Given the description of an element on the screen output the (x, y) to click on. 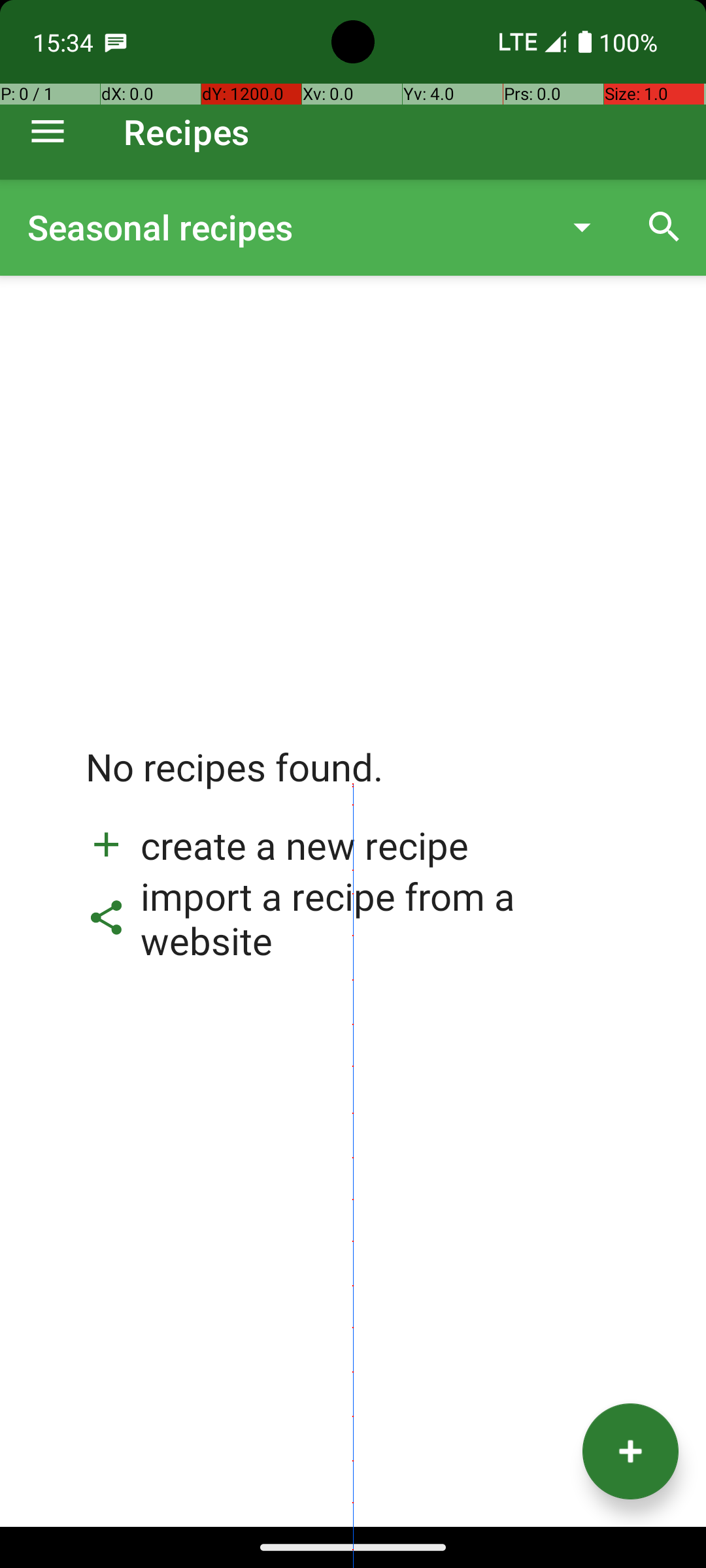
No recipes found. Element type: android.widget.TextView (234, 779)
create a new recipe Element type: android.widget.TextView (276, 844)
import a recipe from a website Element type: android.widget.TextView (352, 917)
